Given the description of an element on the screen output the (x, y) to click on. 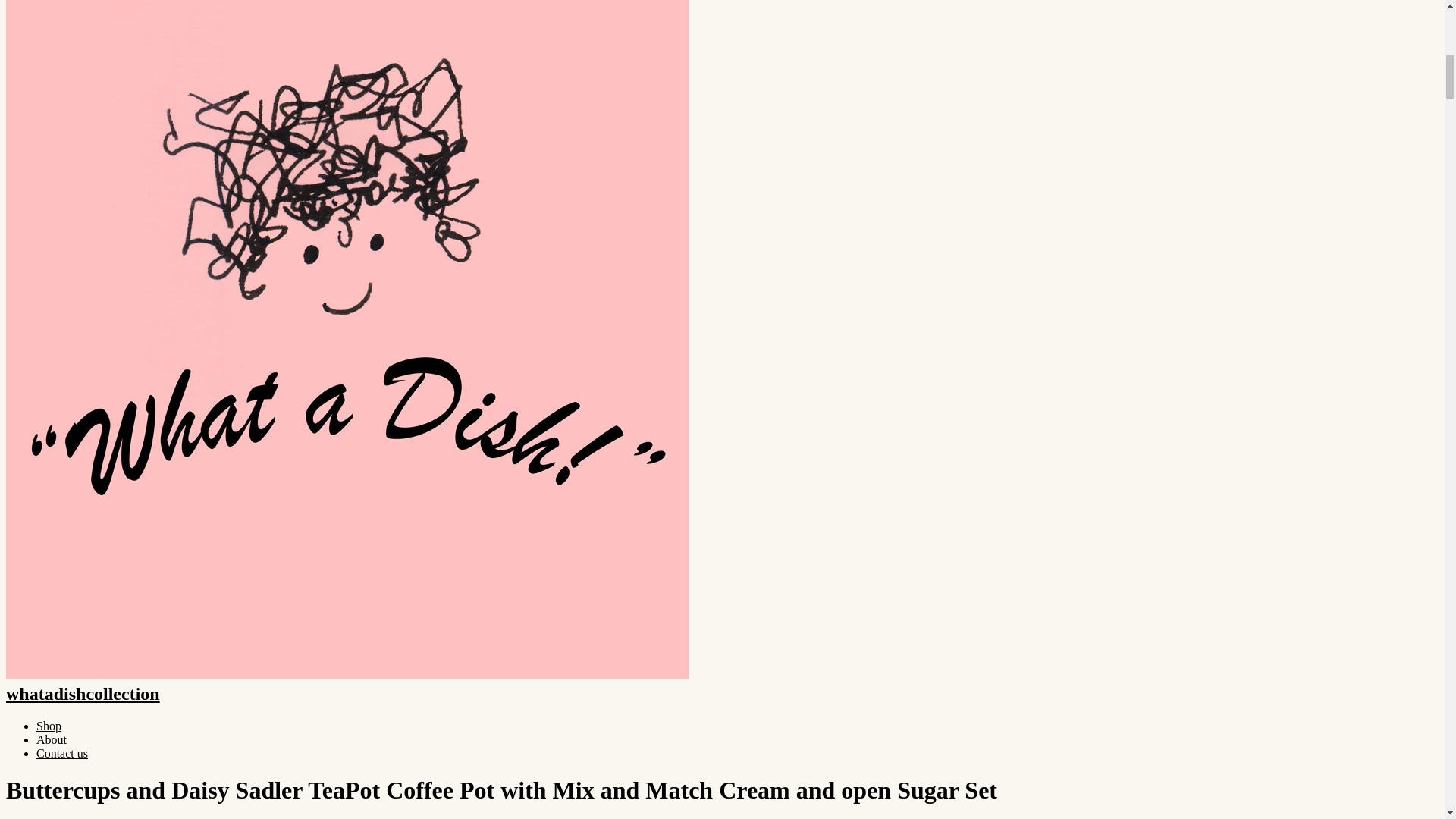
Contact us (61, 753)
Shop (48, 725)
About (51, 739)
